Given the description of an element on the screen output the (x, y) to click on. 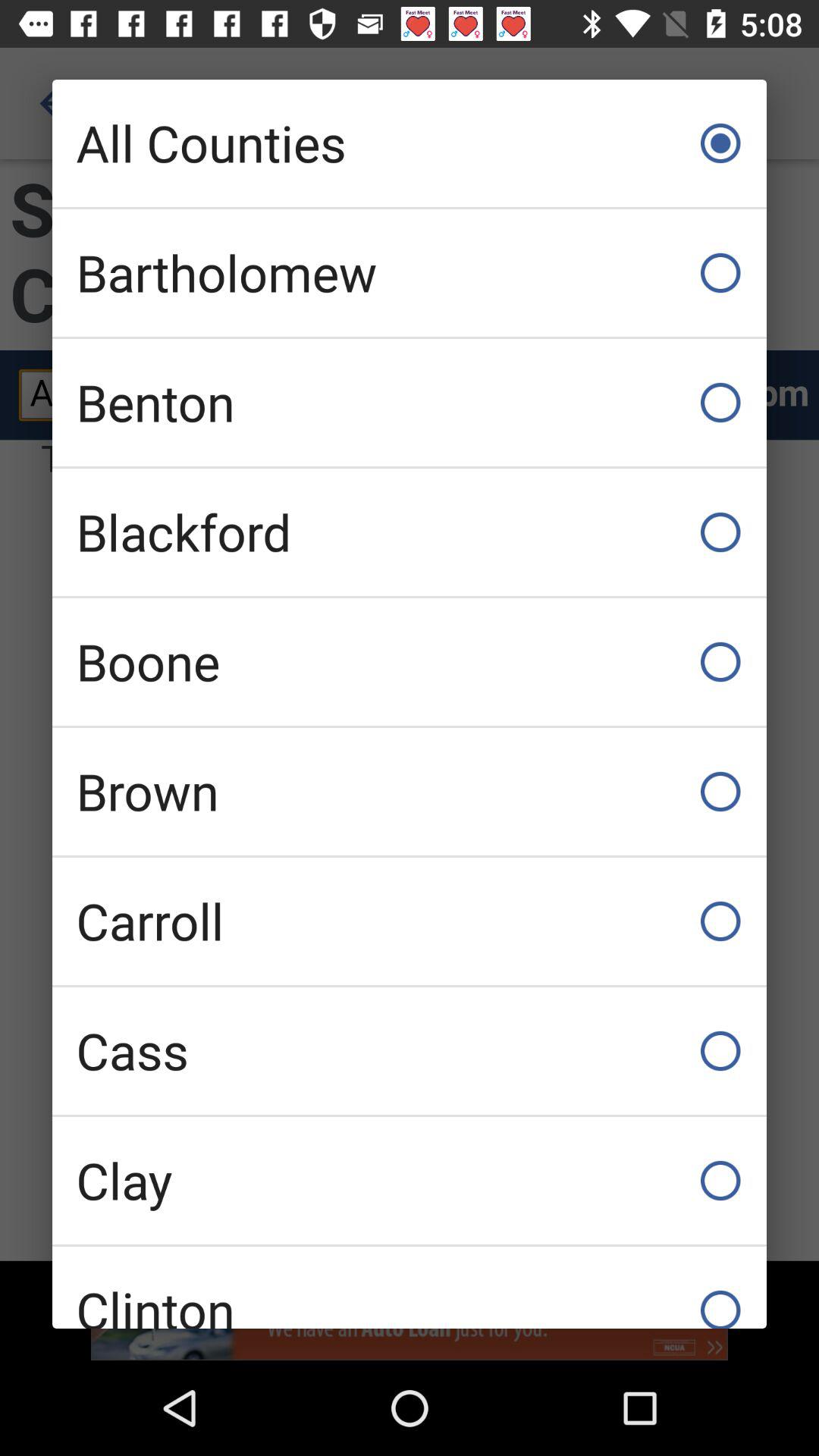
flip to clay item (409, 1180)
